Given the description of an element on the screen output the (x, y) to click on. 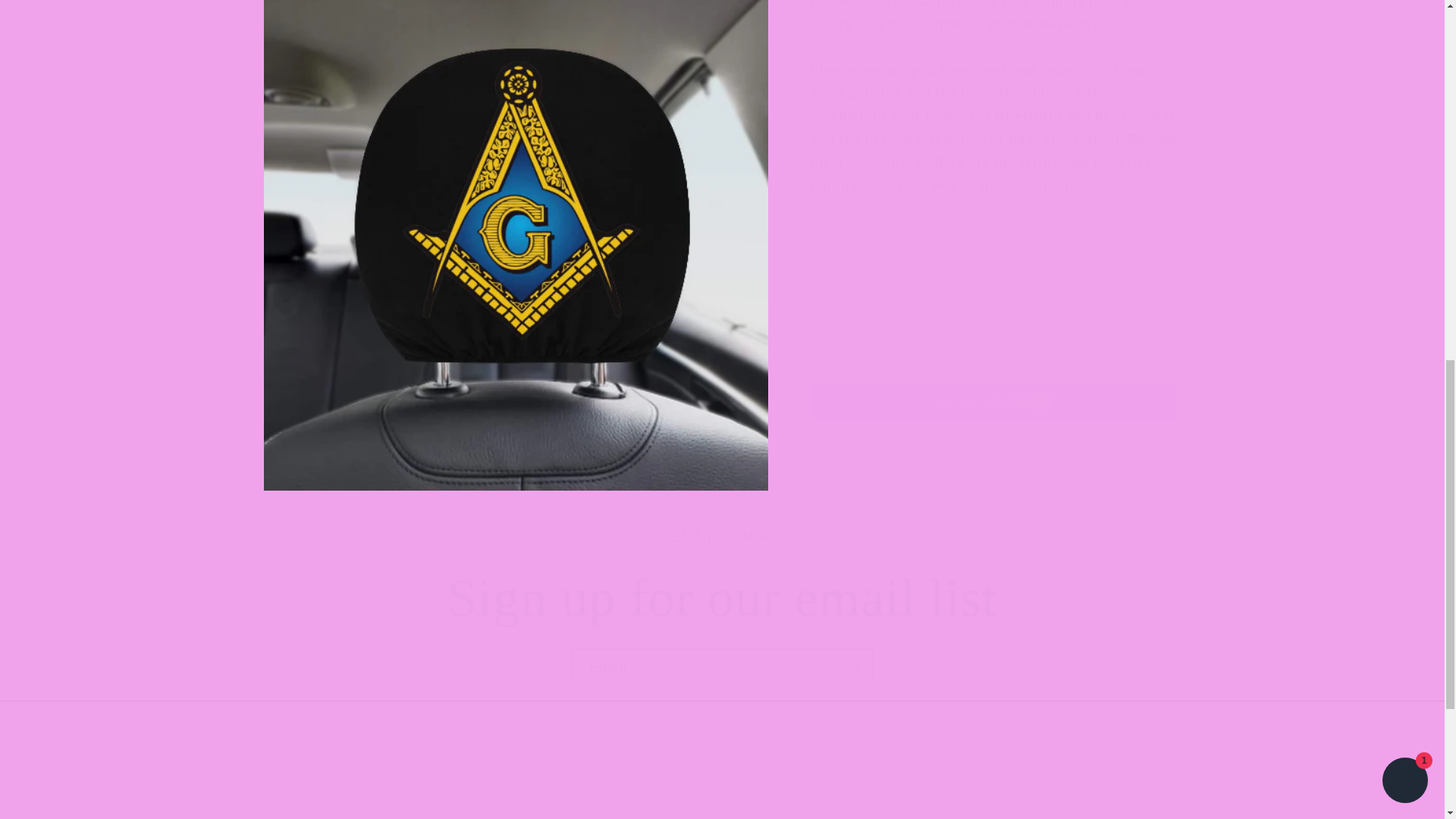
Decrease quantity for MASON HEADREST (827, 282)
Email (722, 667)
More payment options (992, 428)
Increase quantity for MASON HEADREST (899, 282)
EMAIL SIGNUP (722, 536)
Sign up for our email list (722, 597)
Add to cart (992, 341)
1 (863, 282)
